Given the description of an element on the screen output the (x, y) to click on. 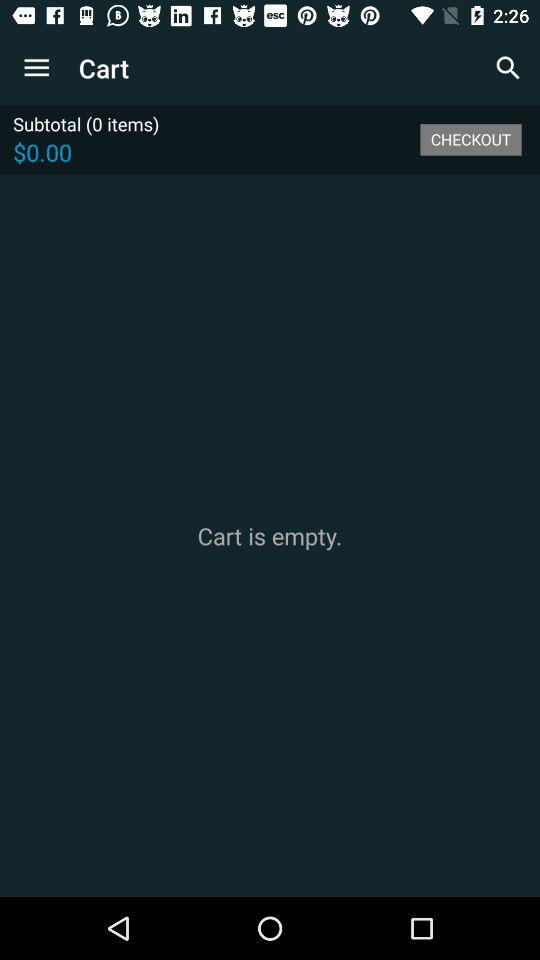
choose icon next to the cart (508, 67)
